Given the description of an element on the screen output the (x, y) to click on. 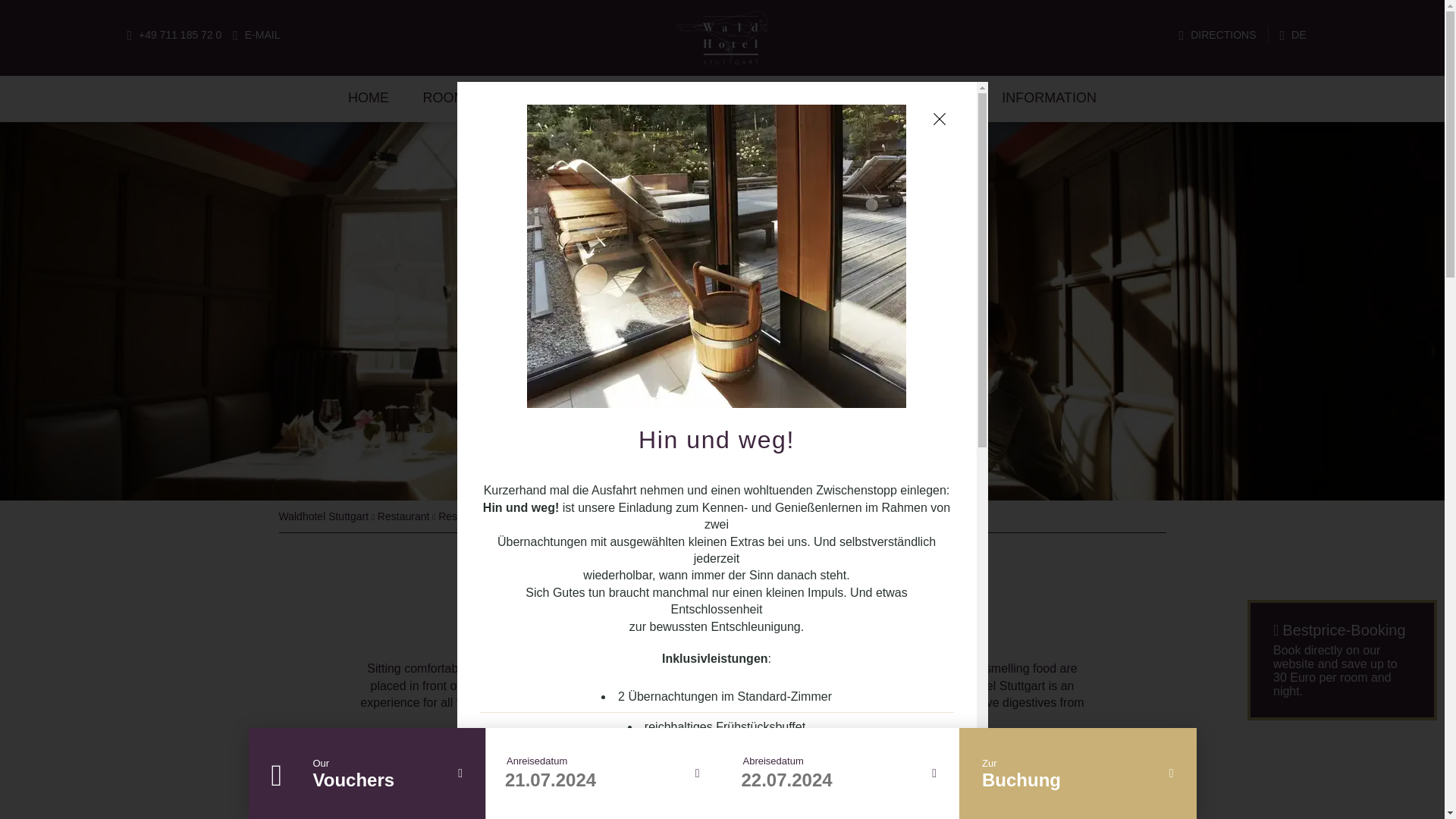
Restaurant (403, 516)
DE (1292, 34)
Bestprice-Booking (1342, 659)
CONFERENCES (560, 98)
Waldhotel Stuttgart (324, 516)
E-MAIL (255, 34)
HOME (367, 98)
ROOMS (448, 98)
DIRECTIONS (1217, 34)
